Given the description of an element on the screen output the (x, y) to click on. 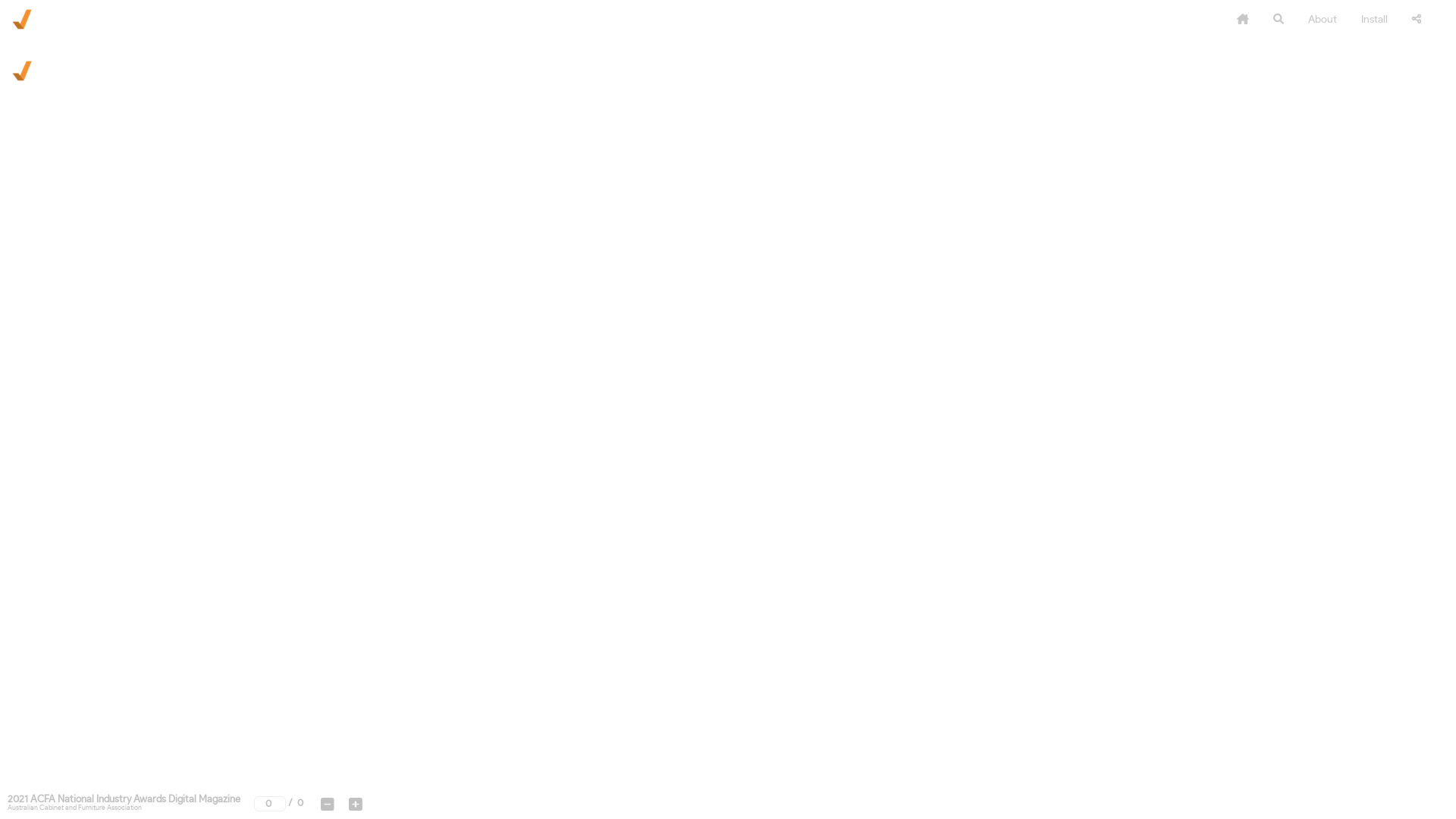
About Element type: text (1322, 19)
Install Element type: text (1374, 19)
current page number Element type: hover (269, 803)
